Given the description of an element on the screen output the (x, y) to click on. 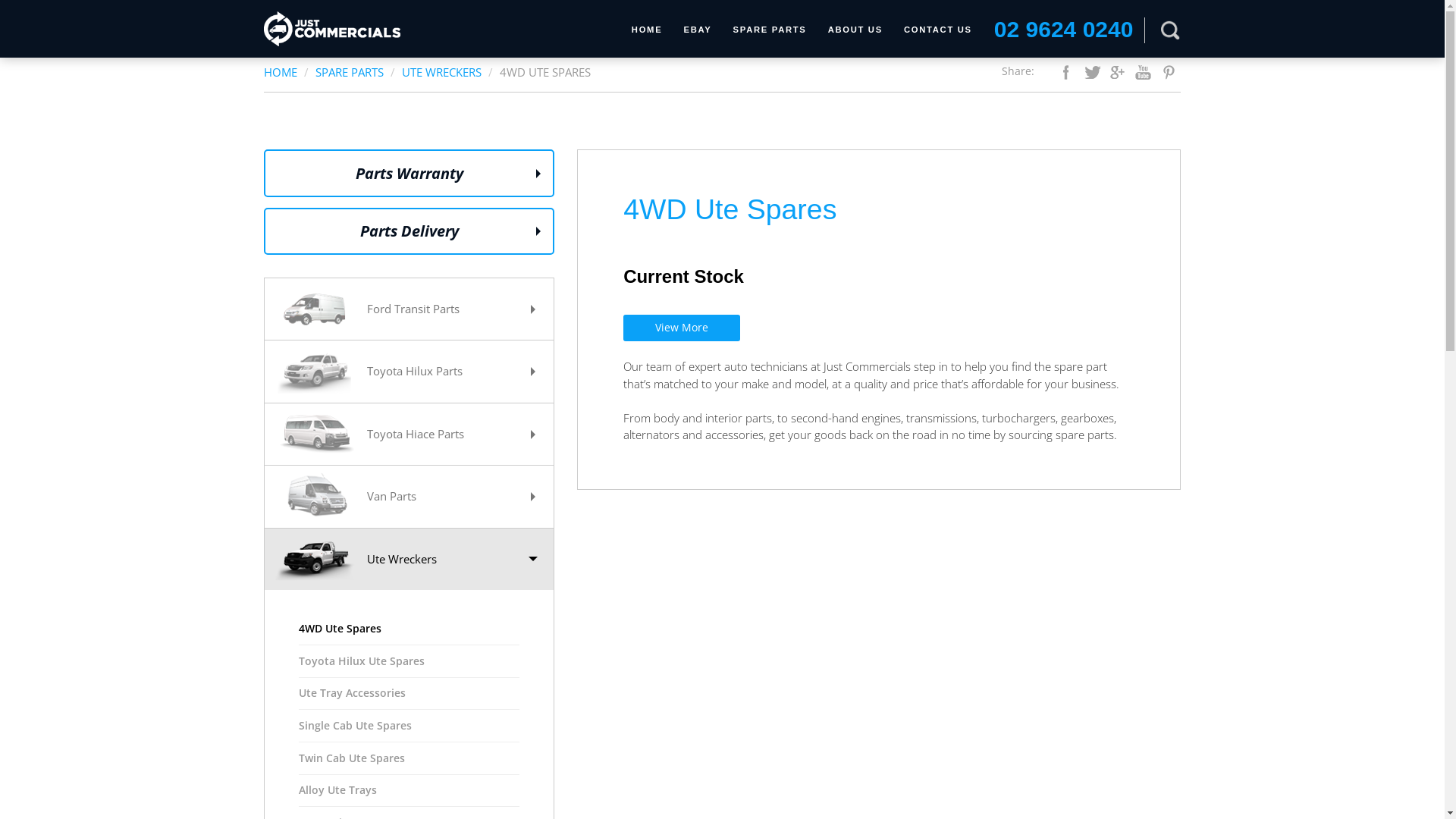
Ford Transit Parts Element type: text (408, 308)
SPARE PARTS Element type: text (349, 71)
UTE WRECKERS Element type: text (441, 71)
Single Cab Ute Spares Element type: text (408, 725)
EBAY Element type: text (696, 29)
CONTACT US Element type: text (937, 29)
View More Element type: text (681, 327)
Alloy Ute Trays Element type: text (408, 790)
Ute Tray Accessories Element type: text (408, 693)
4WD Ute Spares Element type: text (408, 628)
Van Parts Element type: text (408, 496)
SPARE PARTS Element type: text (769, 29)
Toyota Hiace Parts Element type: text (408, 433)
Parts Delivery Element type: text (408, 231)
Toyota Hilux Ute Spares Element type: text (408, 661)
HOME Element type: text (647, 29)
Ute Wreckers Element type: text (408, 558)
HOME Element type: text (280, 71)
Toyota Hilux Parts Element type: text (408, 370)
02 9624 0240 Element type: text (1063, 28)
ABOUT US Element type: text (855, 29)
Parts Warranty Element type: text (408, 173)
Twin Cab Ute Spares Element type: text (408, 758)
